Given the description of an element on the screen output the (x, y) to click on. 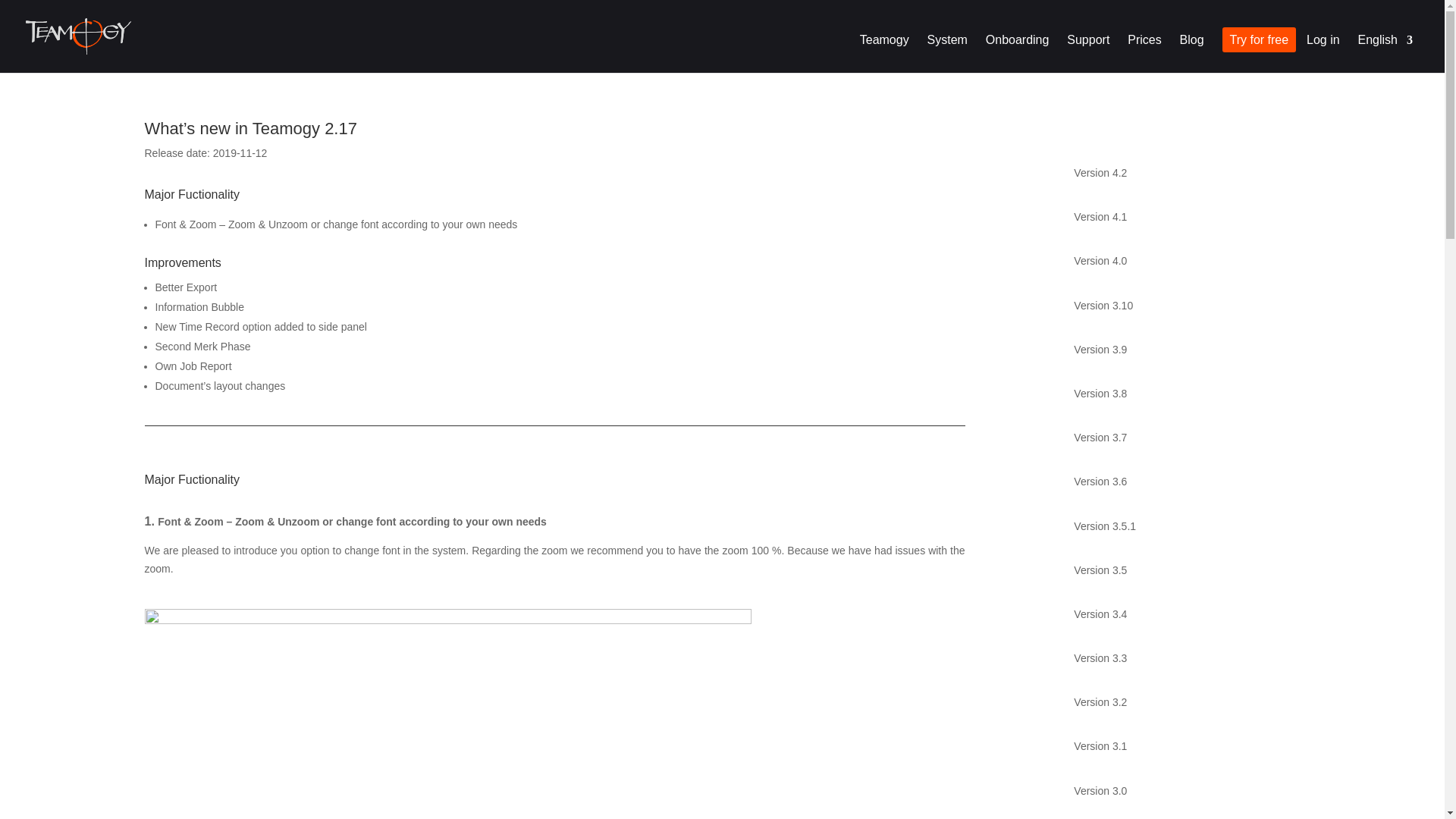
Version 4.1 (1179, 216)
Version 3.5.1 (1179, 525)
System (947, 53)
Version 3.7 (1179, 437)
Onboarding (1017, 53)
Support (1088, 53)
Version 3.2 (1179, 701)
Teamogy (884, 53)
Version 3.10 (1179, 305)
Version 3.9 (1179, 349)
Version 3.1 (1179, 745)
Version 2.17 (1179, 816)
Try for free (1259, 53)
Version 3.0 (1179, 791)
Version 4.2 (1179, 172)
